Given the description of an element on the screen output the (x, y) to click on. 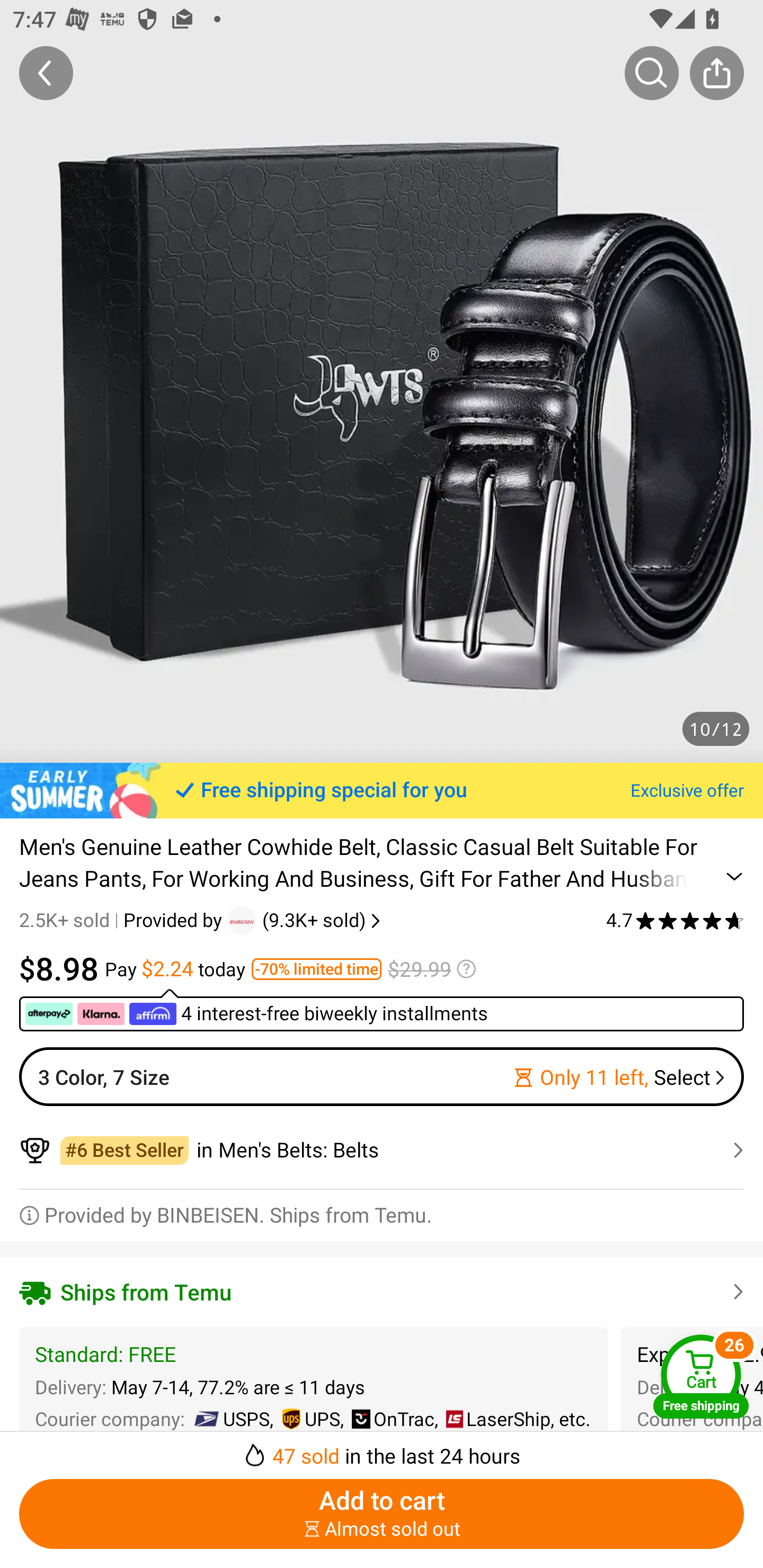
Back (46, 72)
Share (716, 72)
Free shipping special for you Exclusive offer (381, 790)
2.5K+ sold Provided by  (123, 920)
4.7 (674, 920)
￼ ￼ ￼ 4 interest-free biweekly installments (381, 1009)
3 Color, 7 Size   Only 11 left, Select (381, 1076)
￼￼in Men's Belts: Belts (381, 1149)
Ships from Temu (381, 1291)
Cart Free shipping Cart (701, 1375)
￼￼47 sold in the last 24 hours (381, 1450)
Add to cart ￼￼Almost sold out (381, 1513)
